Given the description of an element on the screen output the (x, y) to click on. 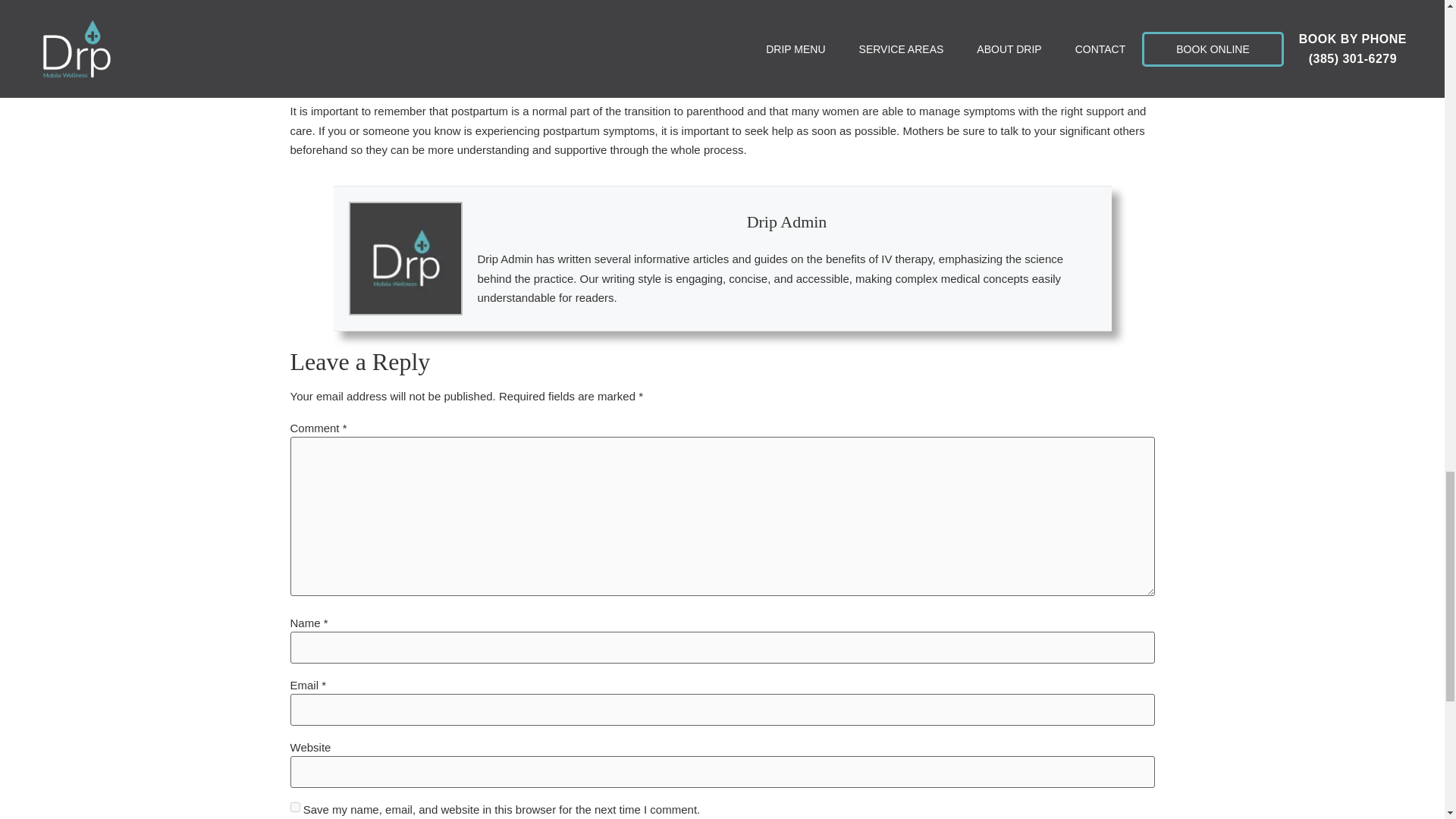
IV therapy for pregnancy (449, 4)
yes (294, 807)
